Given the description of an element on the screen output the (x, y) to click on. 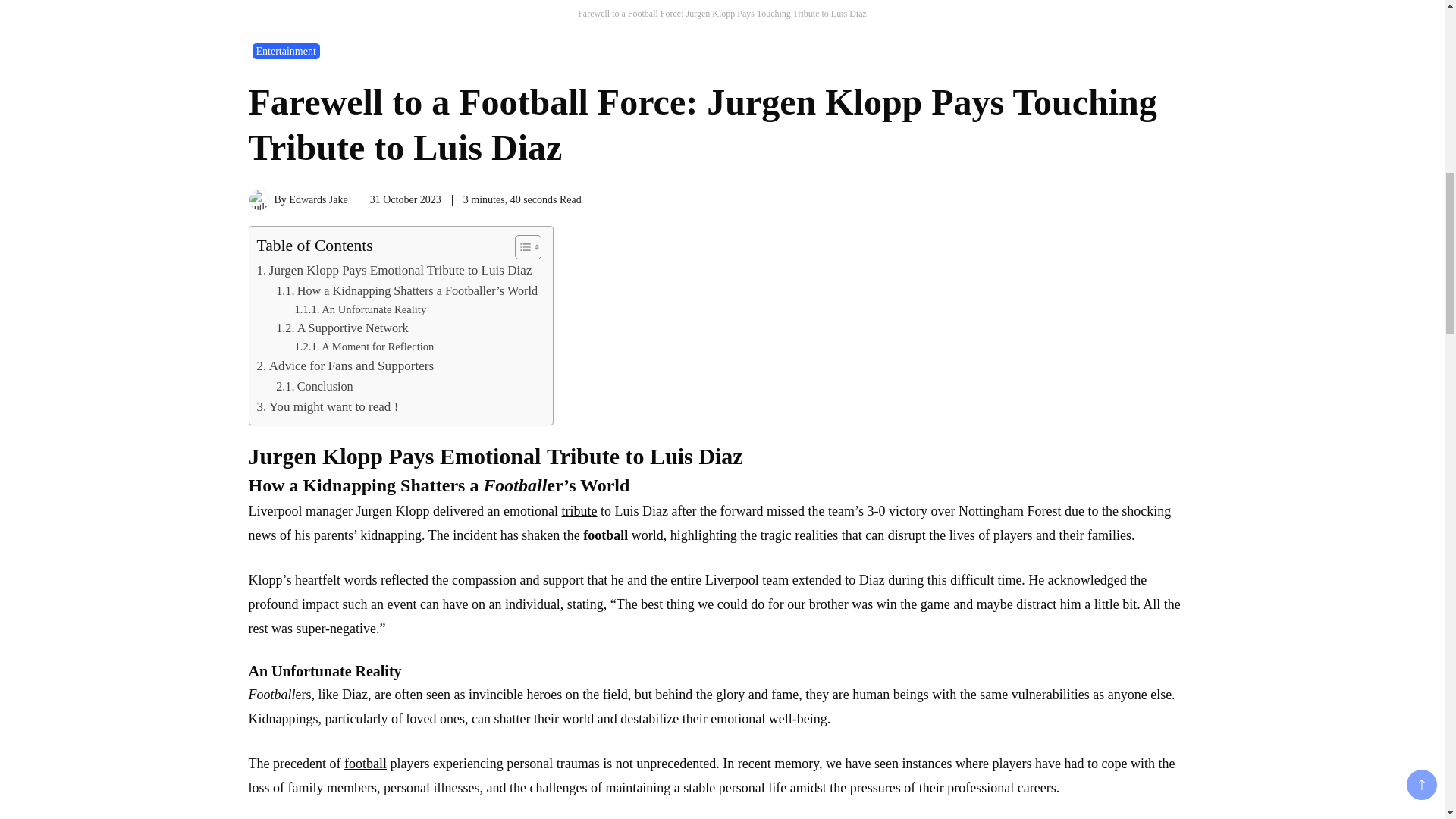
A Moment for Reflection (363, 346)
Advice for Fans and Supporters (344, 365)
An Unfortunate Reality (360, 309)
Jurgen Klopp Pays Emotional Tribute to Luis Diaz (393, 270)
Jurgen Klopp Pays Emotional Tribute to Luis Diaz (393, 270)
31 October 2023 (405, 199)
You might want to read ! (326, 406)
Conclusion (314, 386)
Edwards Jake (317, 199)
Entertainment (284, 50)
